Given the description of an element on the screen output the (x, y) to click on. 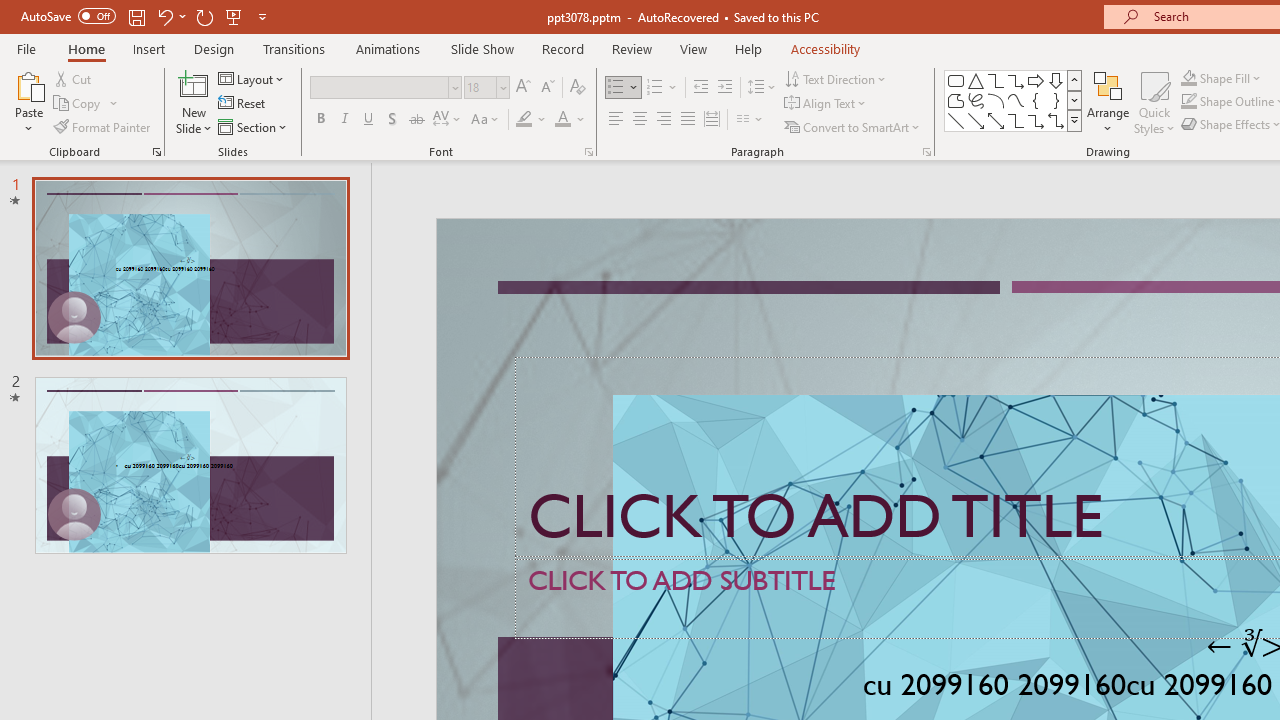
Line Arrow: Double (995, 120)
